Given the description of an element on the screen output the (x, y) to click on. 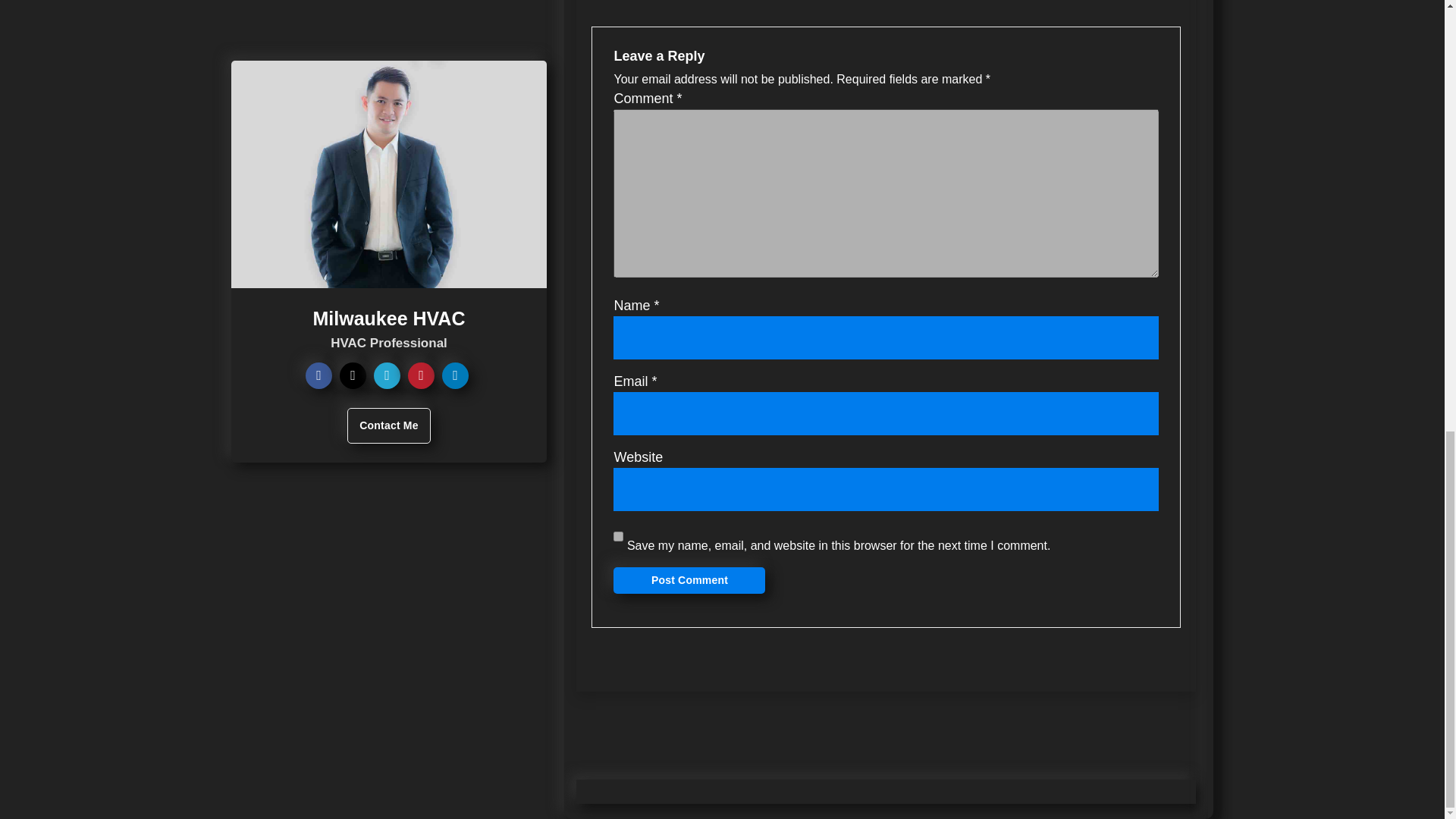
Post Comment (688, 580)
Post Comment (688, 580)
yes (617, 536)
